Given the description of an element on the screen output the (x, y) to click on. 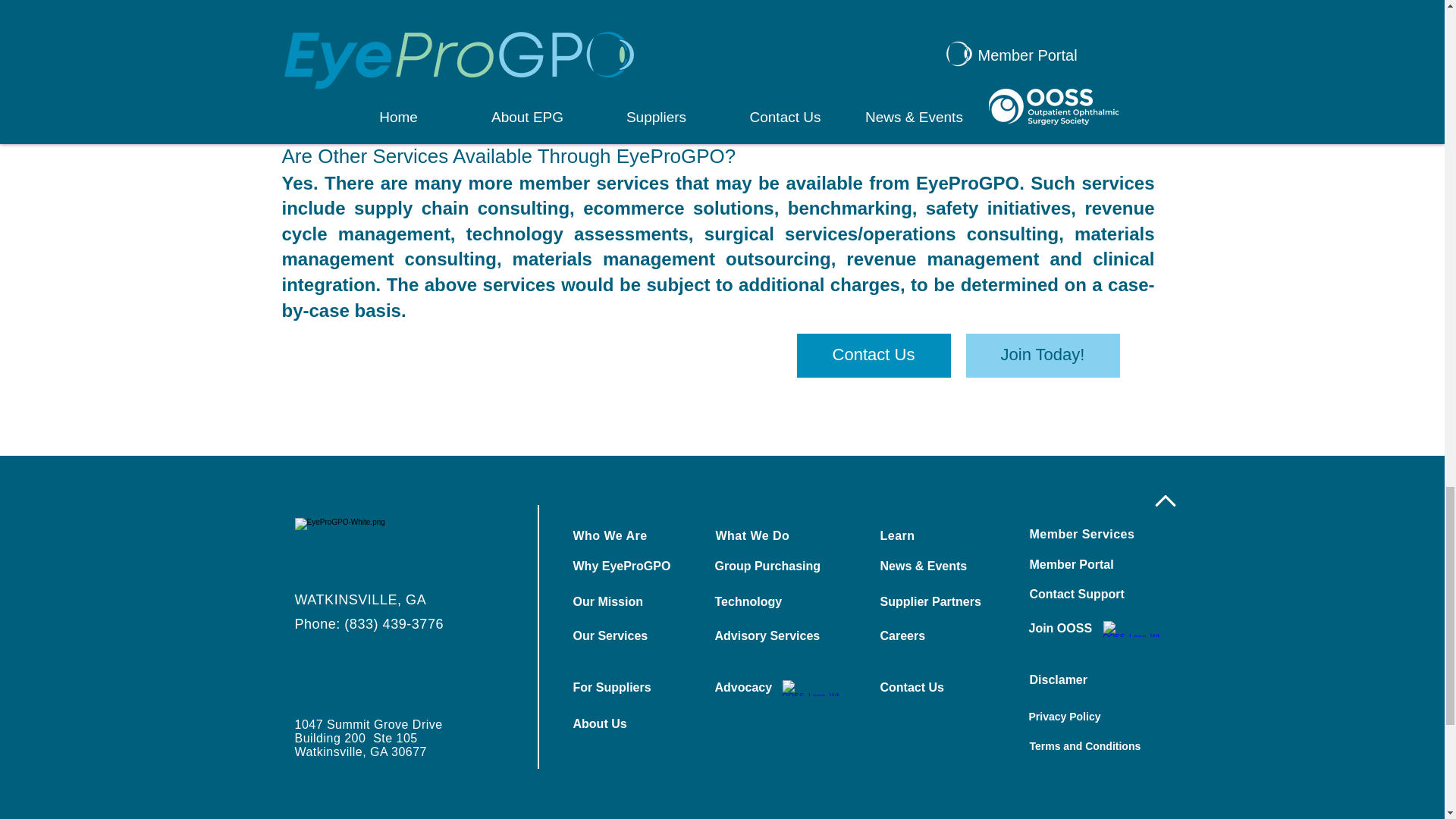
Contact Us (933, 687)
For Suppliers (626, 687)
Member Portal (1083, 564)
Why EyeProGPO (626, 566)
Contact Support (1083, 594)
Join Today! (1042, 355)
Disclamer (1083, 680)
Privacy Policy (1081, 716)
Contact Us (873, 355)
Our Services (626, 636)
Join OOSS (1081, 628)
Technology (767, 602)
Group Purchasing (767, 566)
Supplier Partners (933, 602)
Advocacy (767, 687)
